Given the description of an element on the screen output the (x, y) to click on. 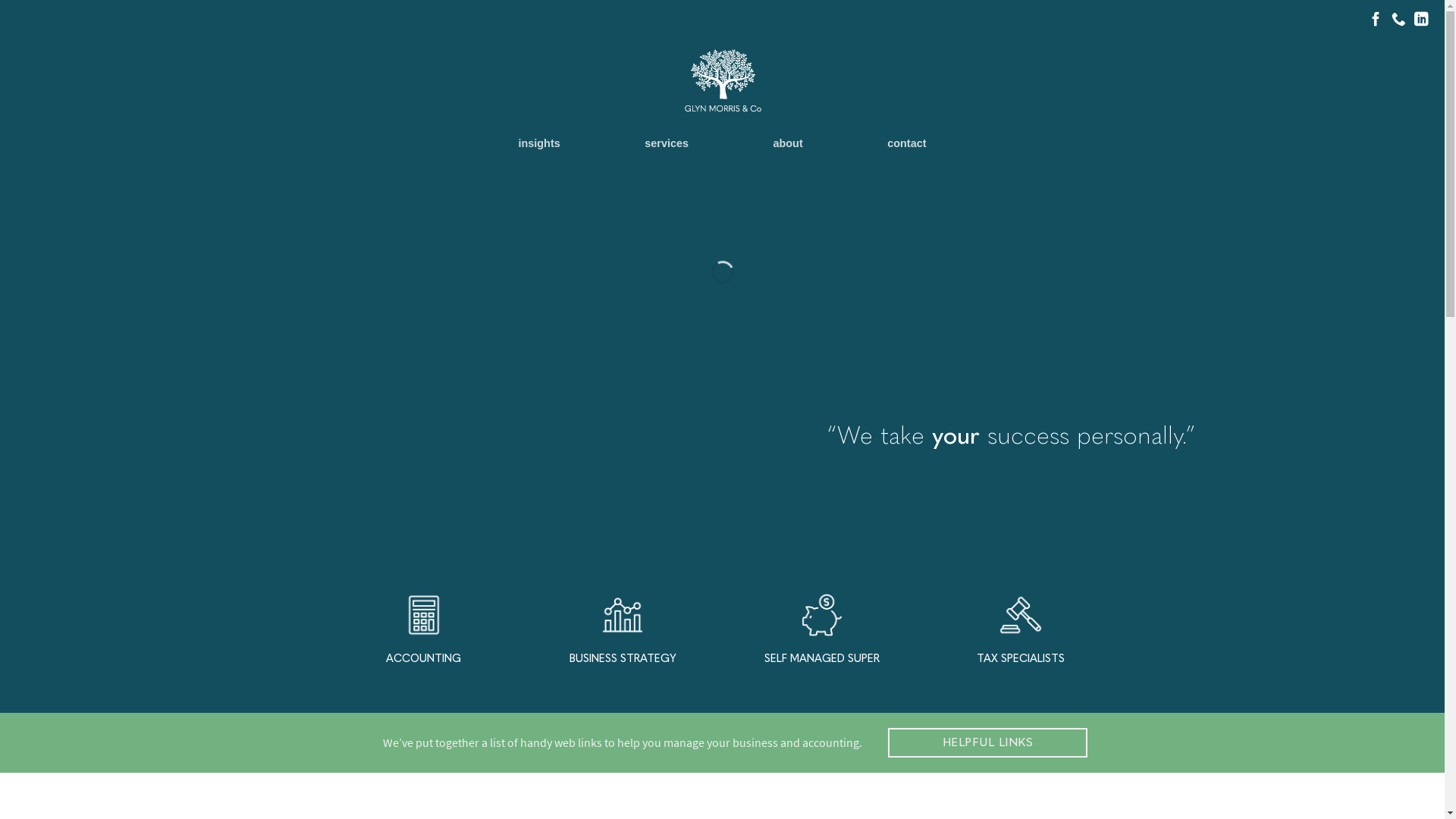
TAX SPECIALISTS Element type: text (1020, 628)
ACCOUNTING Element type: text (424, 628)
SELF MANAGED SUPER Element type: text (821, 628)
contact Element type: text (906, 142)
services Element type: text (666, 142)
Follow on LinkedIn Element type: hover (1421, 20)
BUSINESS STRATEGY Element type: text (622, 628)
Call us Element type: hover (1398, 20)
Follow on Facebook Element type: hover (1375, 20)
insights Element type: text (539, 142)
about Element type: text (788, 142)
HELPFUL LINKS Element type: text (987, 742)
